Given the description of an element on the screen output the (x, y) to click on. 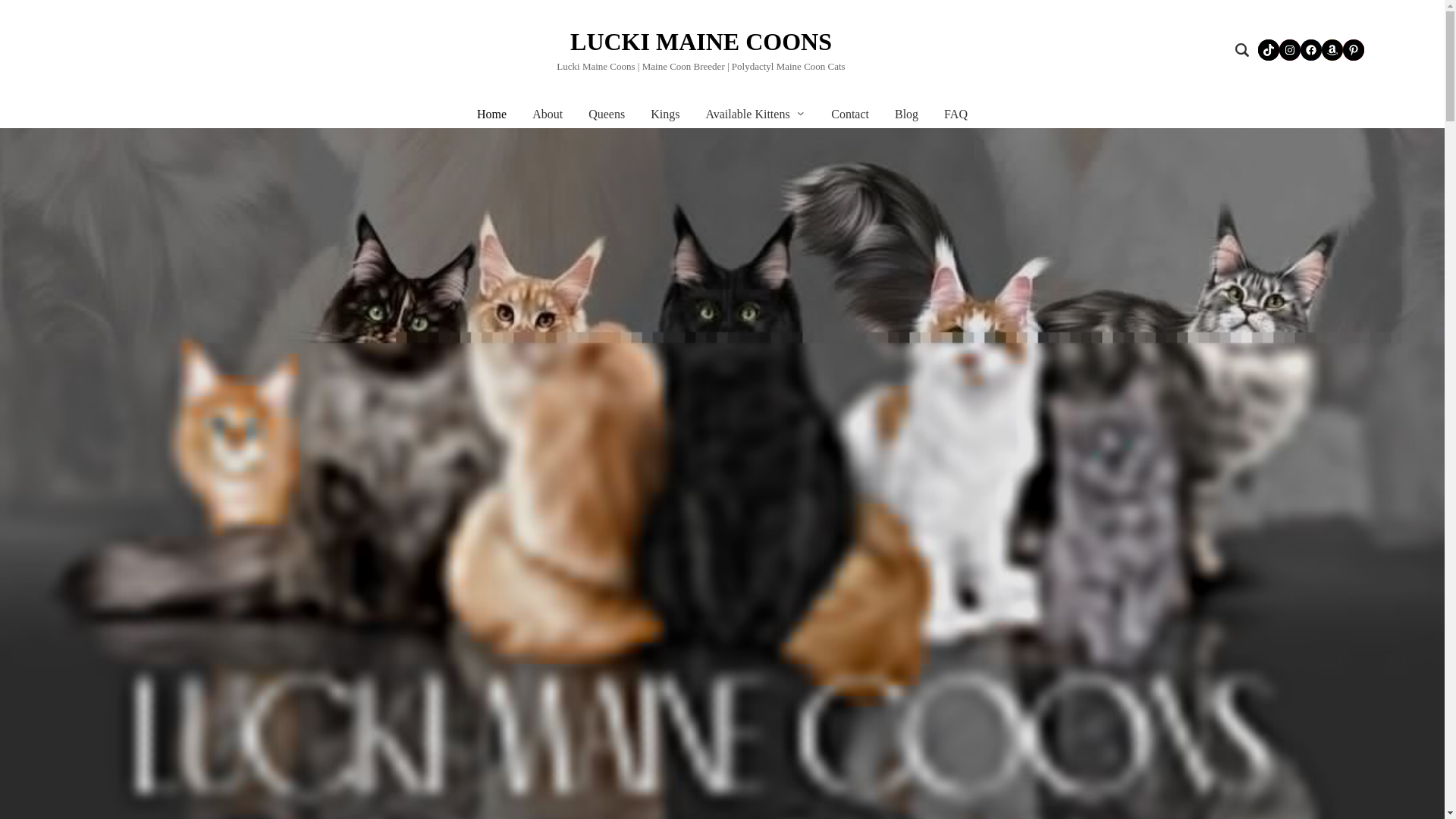
Available Kittens (746, 113)
Facebook (1311, 49)
Kings (664, 113)
Amazon (1332, 49)
Queens (606, 113)
TikTok (1268, 49)
About (547, 113)
LUCKI MAINE COONS (700, 41)
Pinterest (1353, 49)
Contact (850, 113)
